Given the description of an element on the screen output the (x, y) to click on. 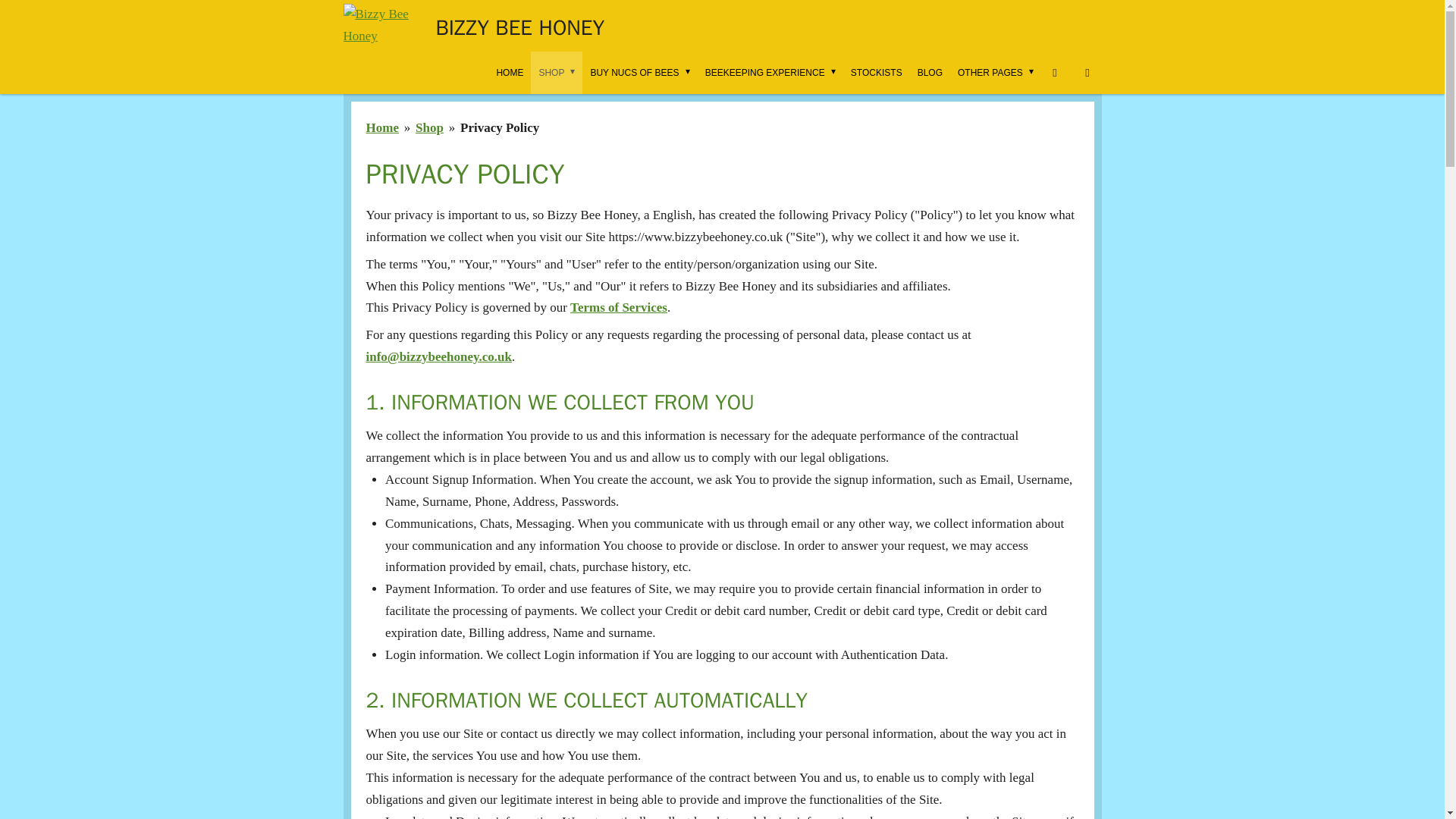
BEEKEEPING EXPERIENCE (770, 72)
STOCKISTS (876, 72)
SHOP (556, 72)
OTHER PAGES (995, 72)
Terms of Services (618, 307)
Privacy Policy (499, 127)
BIZZY BEE HONEY (519, 25)
HOME (509, 72)
Shop (429, 127)
Bizzy Bee Honey (381, 25)
